Given the description of an element on the screen output the (x, y) to click on. 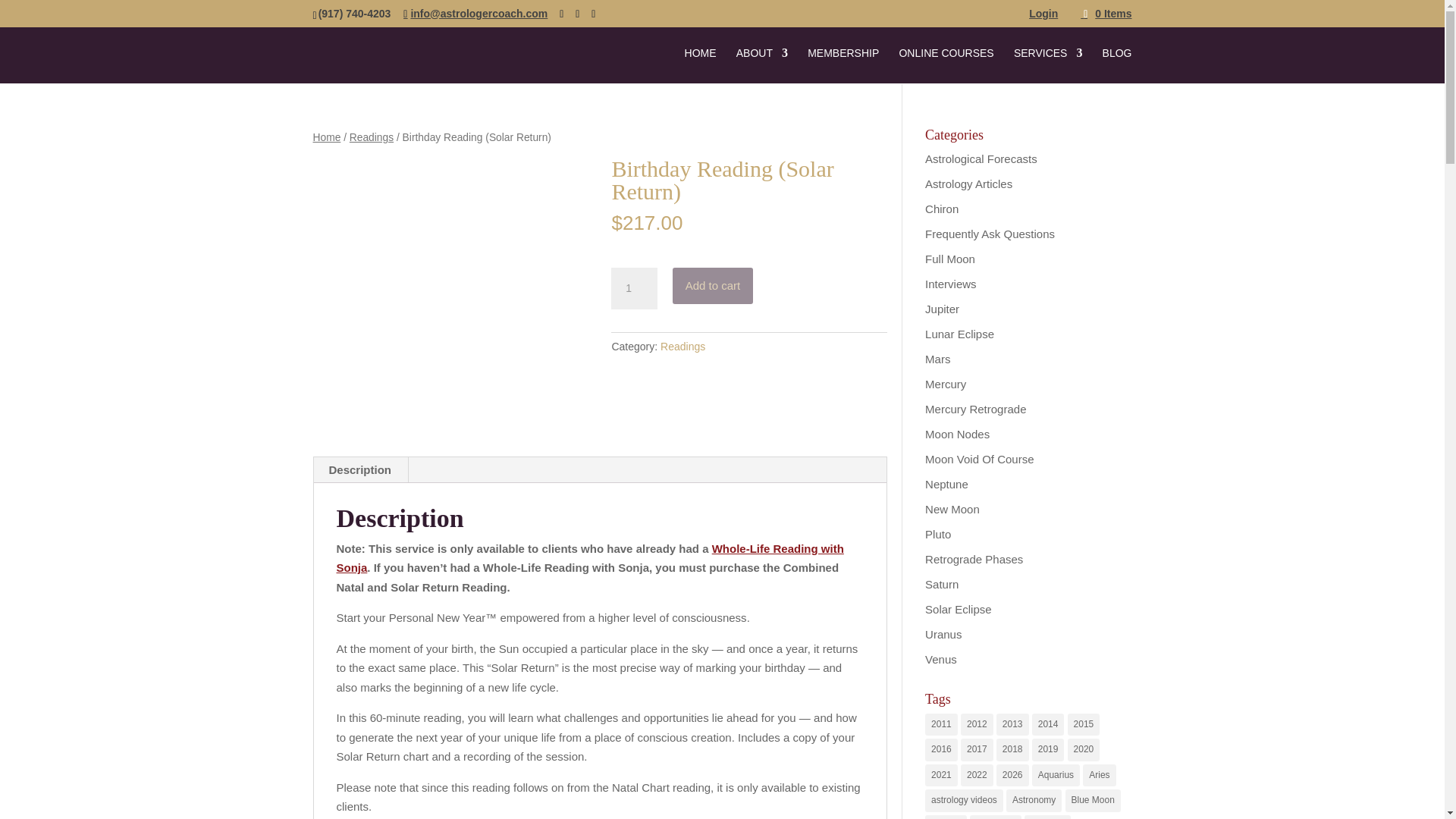
HOME (700, 65)
Whole-Life Reading with Sonja (590, 558)
Add to cart (713, 285)
SERVICES (1048, 65)
1 (633, 288)
MEMBERSHIP (843, 65)
Readings (682, 346)
ONLINE COURSES (945, 65)
0 Items (1105, 13)
Login (1043, 16)
